Given the description of an element on the screen output the (x, y) to click on. 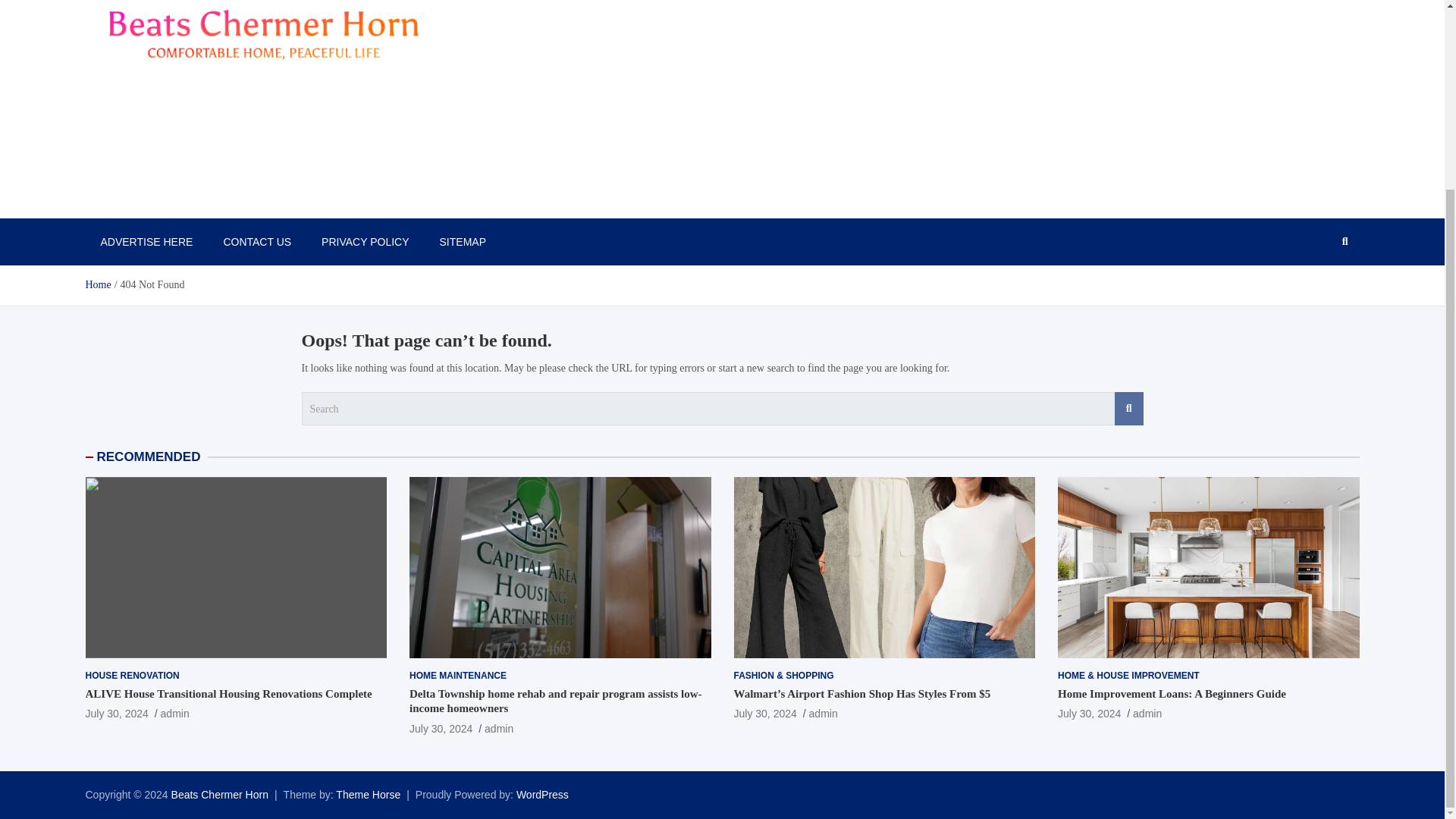
ADVERTISE HERE (146, 241)
WordPress (542, 794)
July 30, 2024 (116, 713)
Theme Horse (368, 794)
CONTACT US (256, 241)
PRIVACY POLICY (364, 241)
ALIVE House Transitional Housing Renovations Complete (116, 713)
July 30, 2024 (440, 728)
ALIVE House Transitional Housing Renovations Complete (227, 693)
Theme Horse (368, 794)
admin (1146, 713)
Home Improvement Loans: A Beginners Guide (1171, 693)
July 30, 2024 (1089, 713)
